Given the description of an element on the screen output the (x, y) to click on. 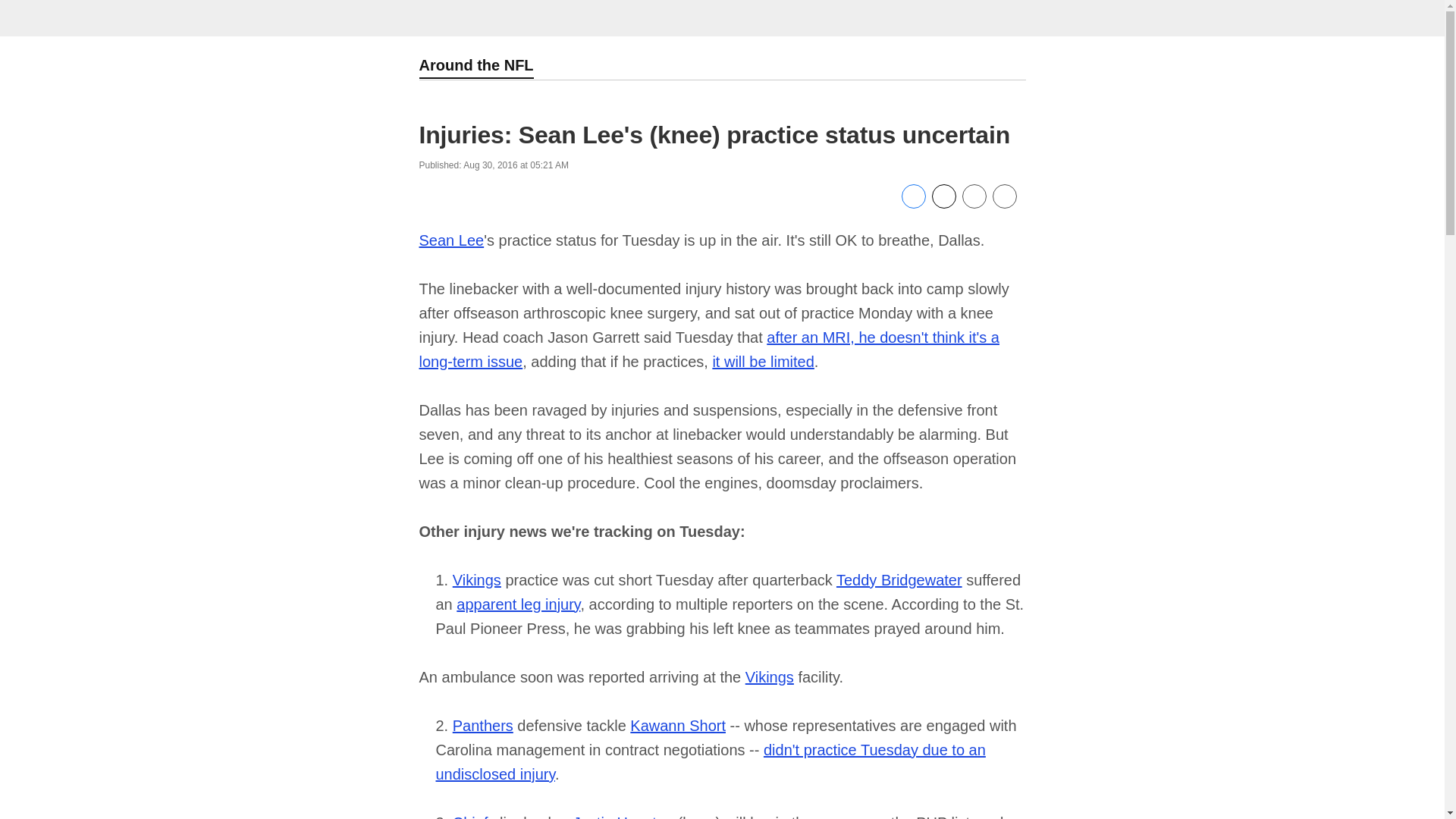
Vikings (476, 579)
Panthers (482, 725)
Send email (972, 204)
didn't practice Tuesday due to an undisclosed injury (710, 762)
Vikings (769, 677)
Copy link (1003, 196)
it will be limited (762, 361)
Around the NFL (475, 66)
Chiefs (474, 816)
Teddy Bridgewater (898, 579)
